Given the description of an element on the screen output the (x, y) to click on. 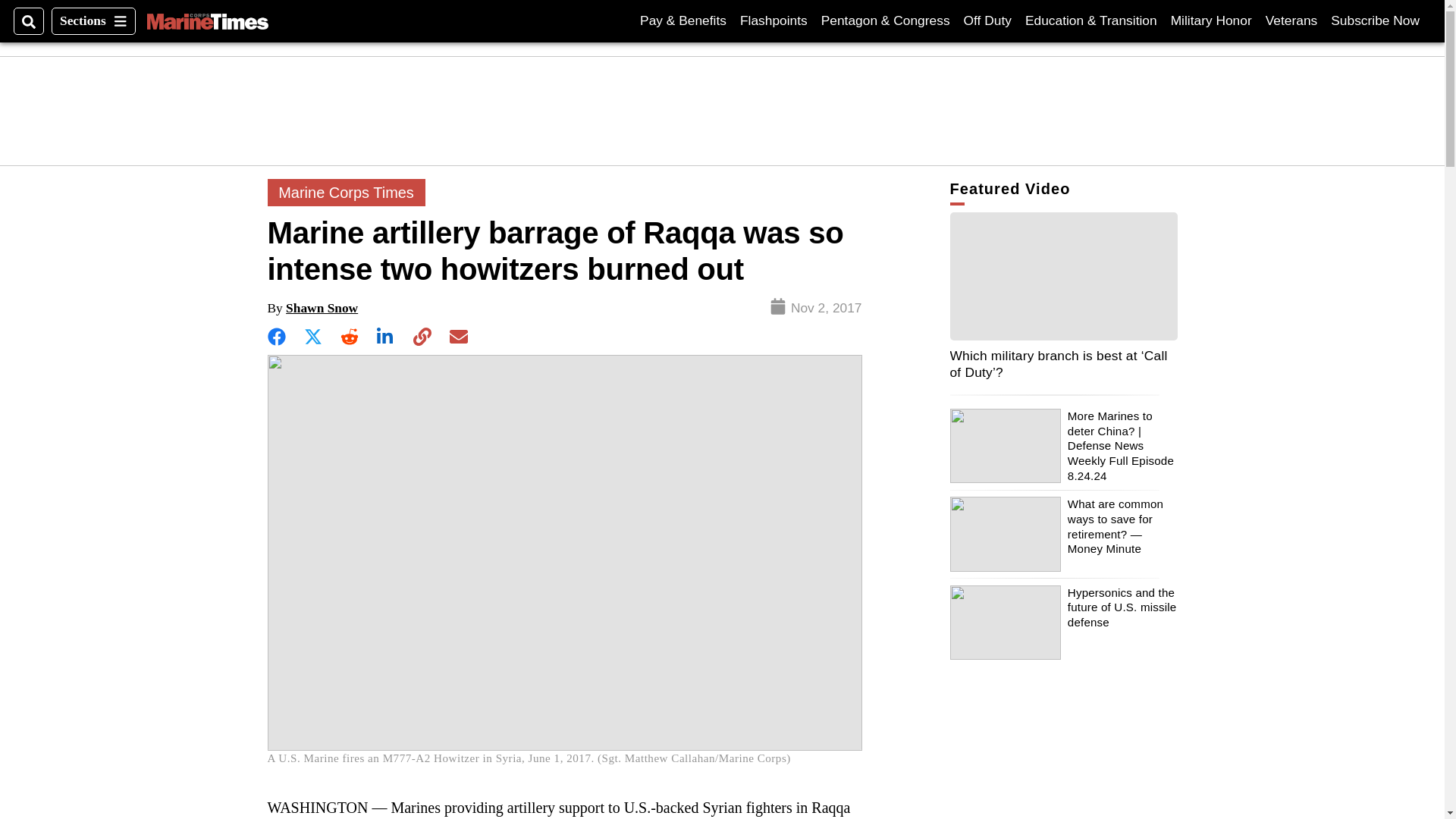
Off Duty (987, 20)
Military Honor (1374, 20)
Flashpoints (1211, 20)
Sections (773, 20)
Marine Corps Times Logo (92, 21)
Veterans (207, 21)
